Given the description of an element on the screen output the (x, y) to click on. 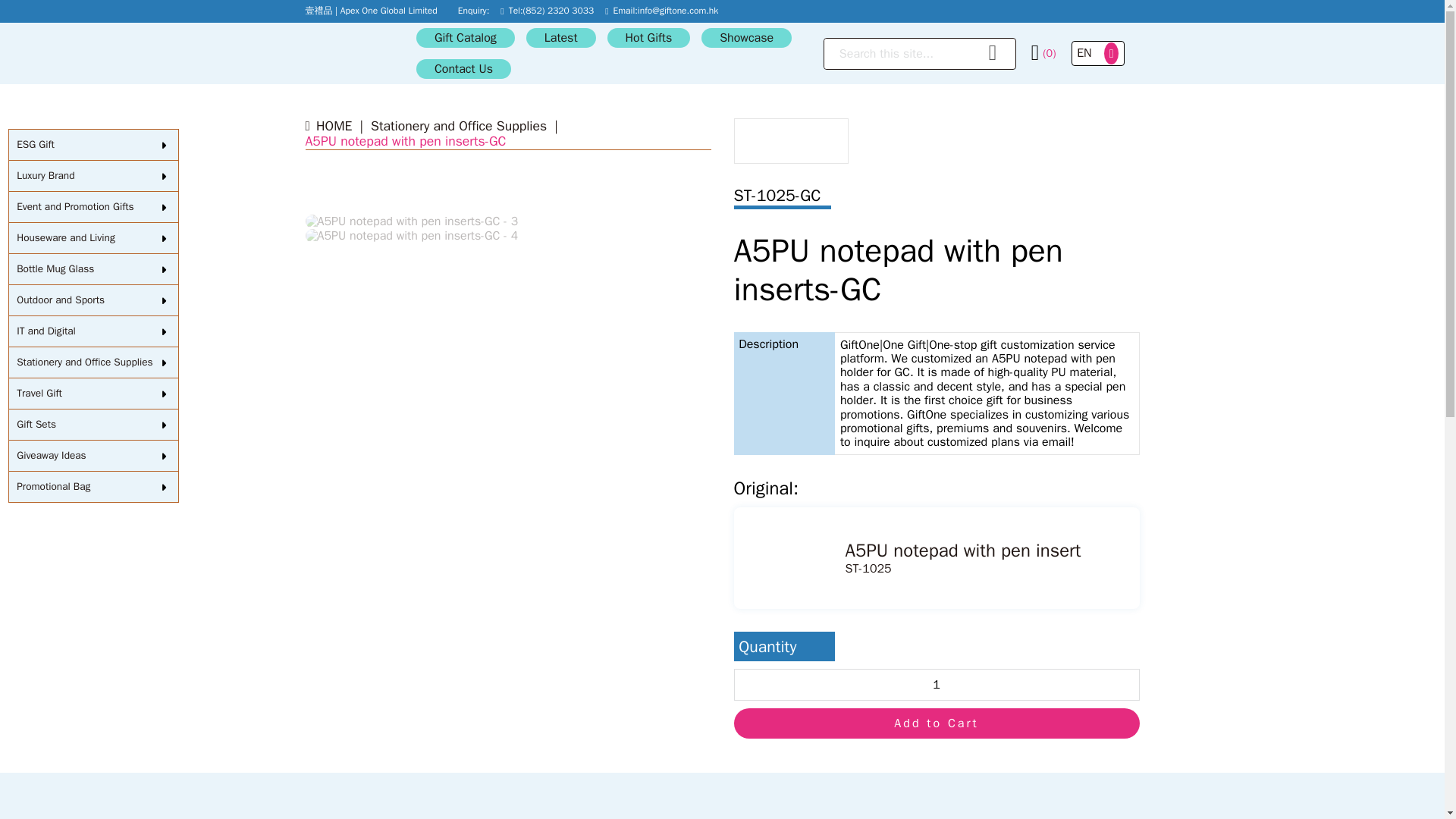
ST-1025-GC-03 (411, 235)
Gift Catalog (465, 37)
Showcase (746, 37)
ST-1025-GC-01 (411, 221)
EN (1084, 53)
Contact Us (463, 68)
Latest (560, 37)
1 (936, 685)
Hot Gifts (648, 37)
